Given the description of an element on the screen output the (x, y) to click on. 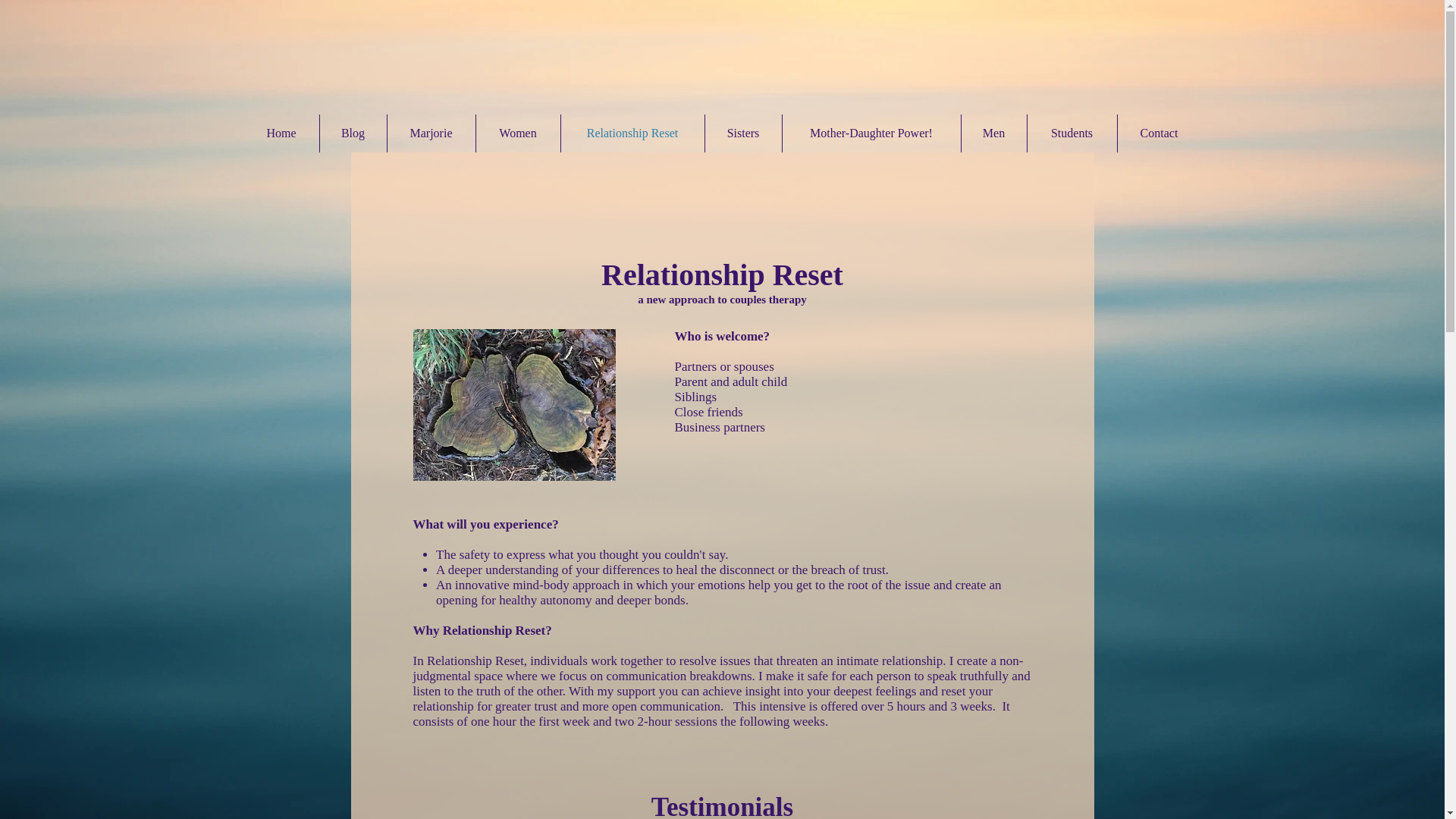
Women (518, 133)
Contact (1159, 133)
Home (281, 133)
Marjorie (430, 133)
Men (993, 133)
Relationship Reset (632, 133)
Mother-Daughter Power! (871, 133)
Blog (353, 133)
Students (1071, 133)
Sisters (742, 133)
